Given the description of an element on the screen output the (x, y) to click on. 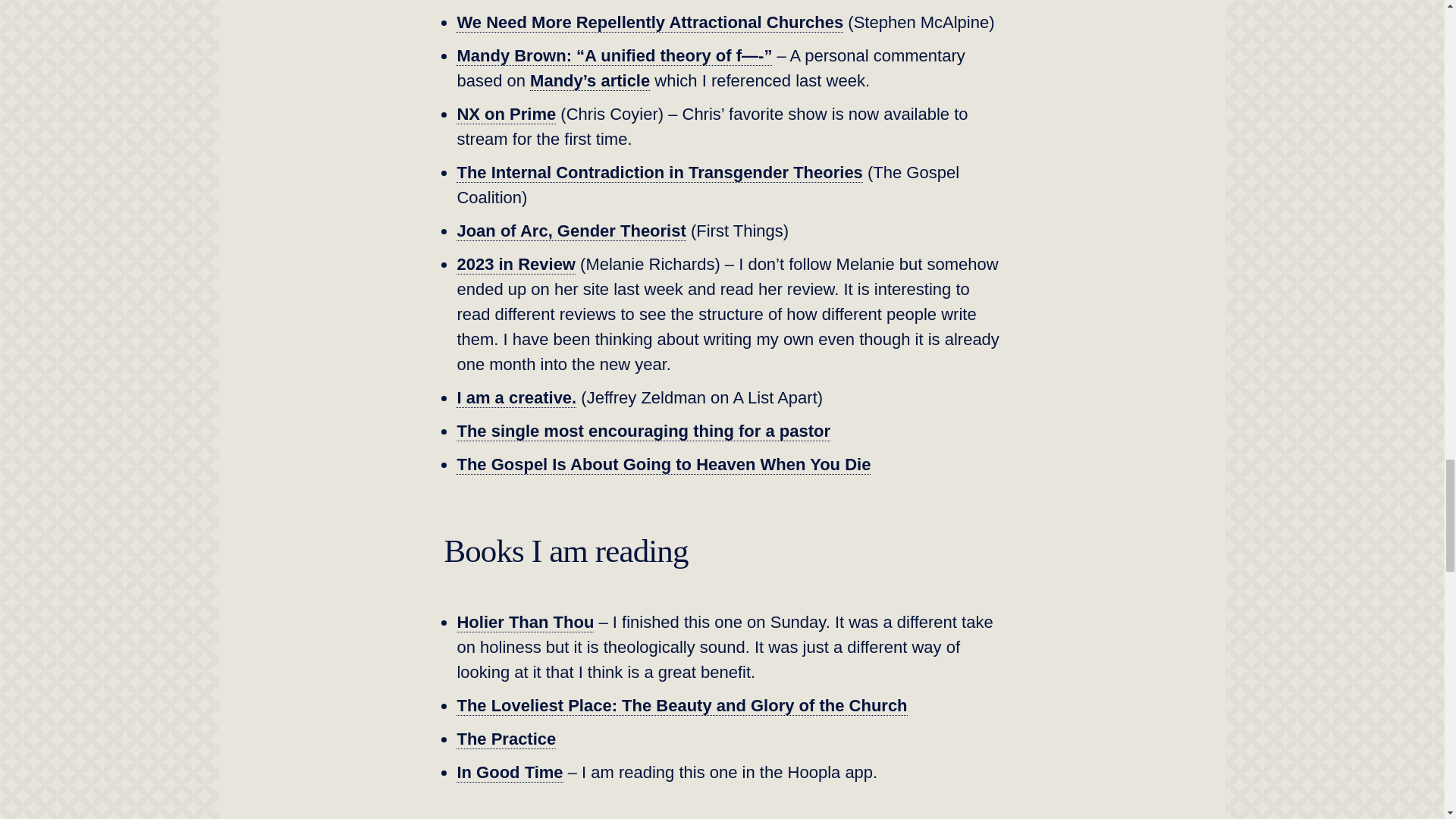
We Need More Repellently Attractional Churches (650, 22)
2023 in Review (516, 264)
Joan of Arc, Gender Theorist (571, 230)
The Internal Contradiction in Transgender Theories (659, 172)
NX on Prime (506, 114)
